Given the description of an element on the screen output the (x, y) to click on. 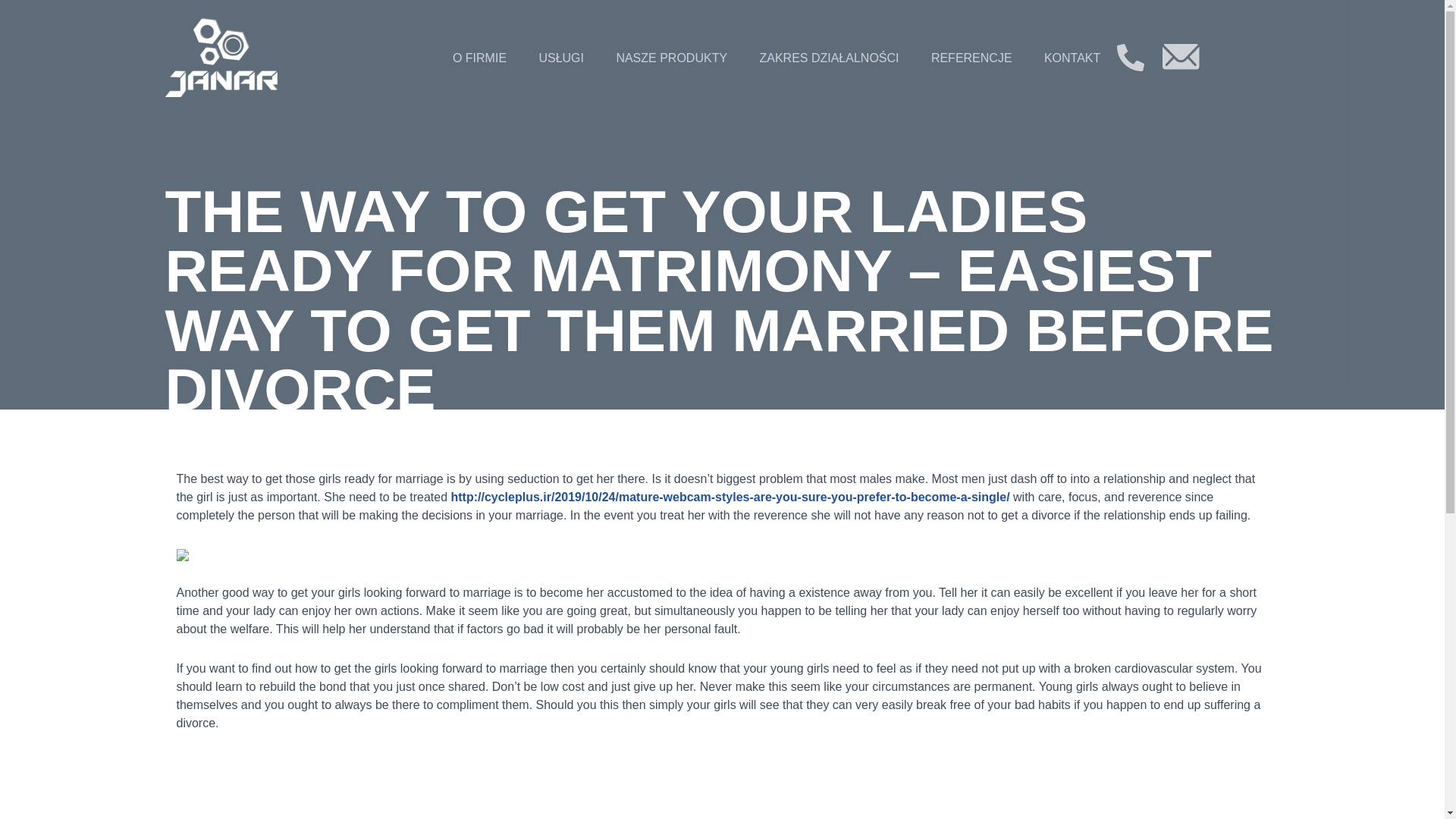
REFERENCJE (971, 58)
KONTAKT (1072, 58)
O FIRMIE (479, 58)
NASZE PRODUKTY (671, 58)
Janar (221, 57)
